Given the description of an element on the screen output the (x, y) to click on. 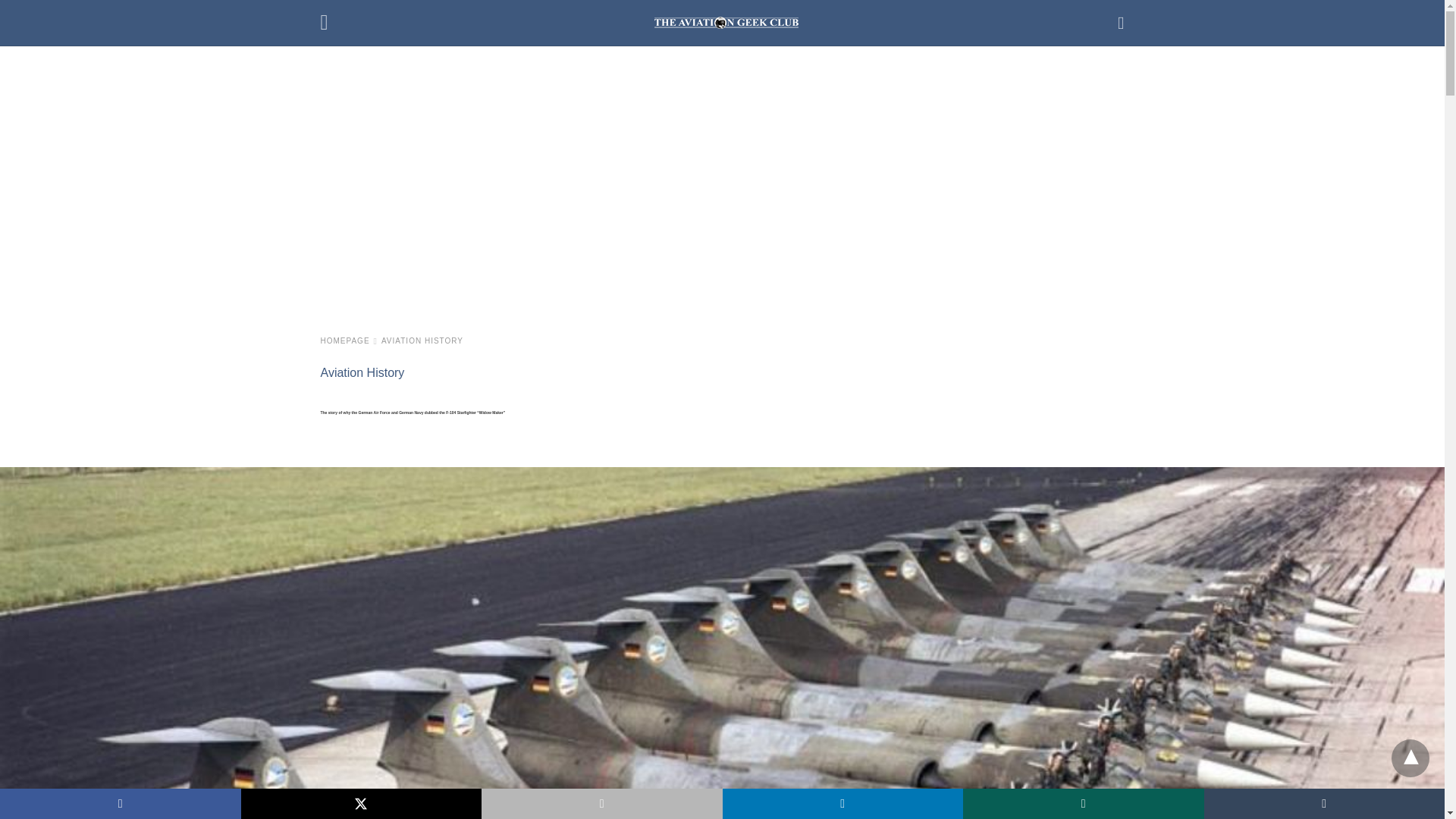
AVIATION HISTORY (422, 340)
The Aviation Geek Club (725, 22)
Aviation History (362, 372)
Aviation History (362, 372)
Homepage (348, 340)
Aviation History (422, 340)
search (1121, 22)
HOMEPAGE (348, 340)
